Given the description of an element on the screen output the (x, y) to click on. 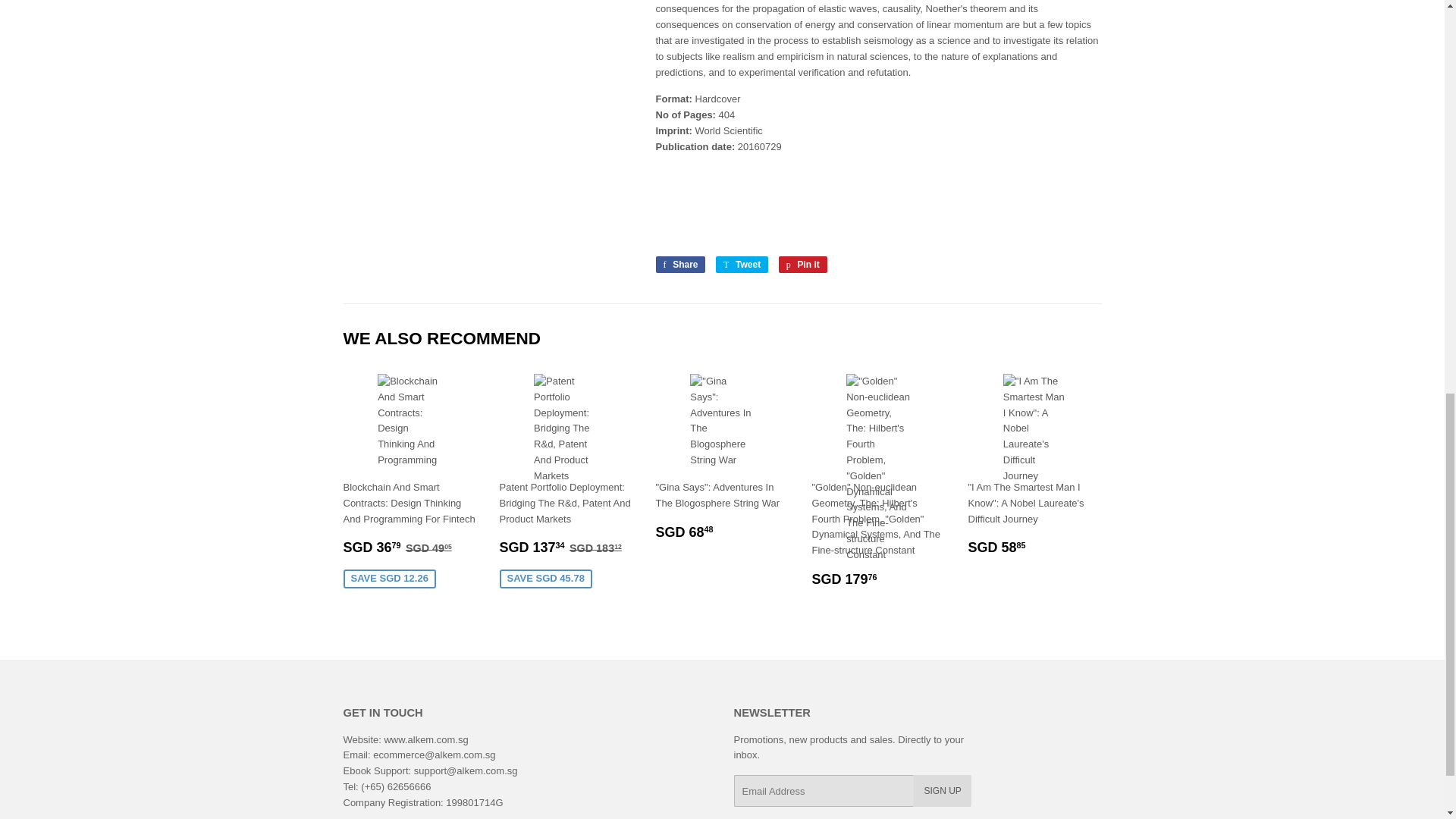
Tweet on Twitter (742, 264)
Pin on Pinterest (802, 264)
Share on Facebook (679, 264)
